Given the description of an element on the screen output the (x, y) to click on. 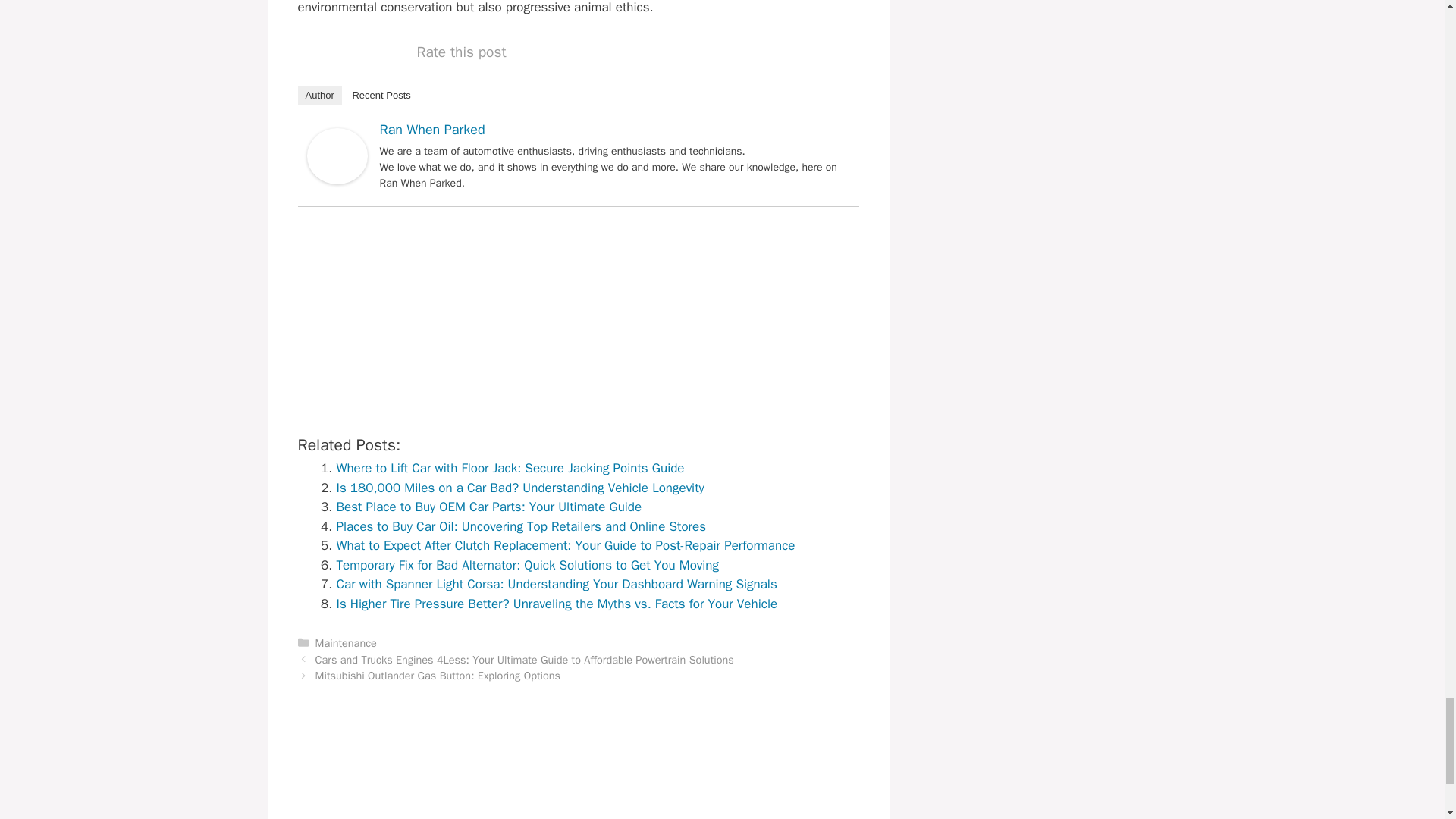
Best Place to Buy OEM Car Parts: Your Ultimate Guide (489, 506)
Ran When Parked (335, 179)
